Given the description of an element on the screen output the (x, y) to click on. 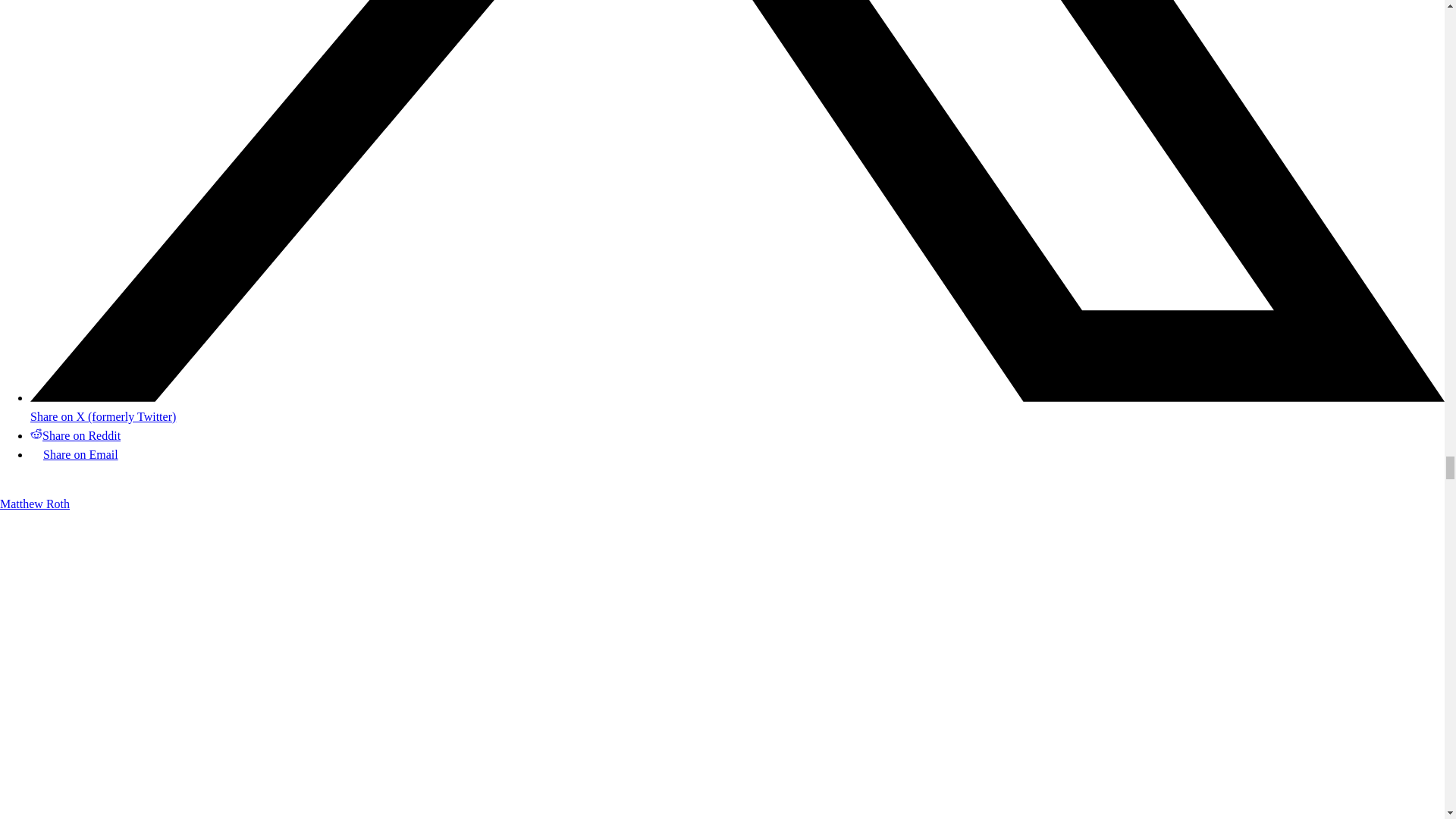
Share on Email (73, 454)
Share on Reddit (75, 435)
